Given the description of an element on the screen output the (x, y) to click on. 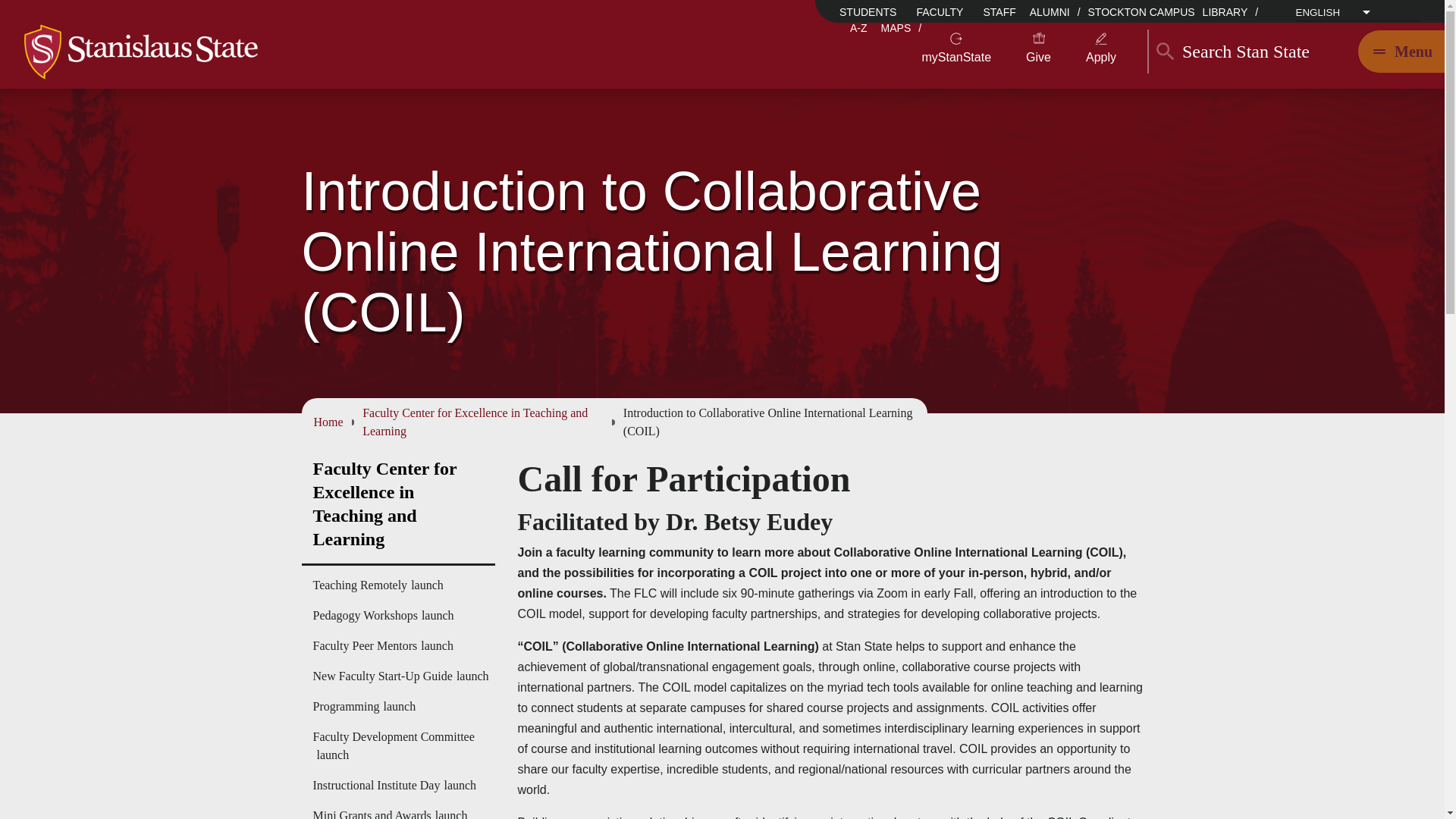
Library (1224, 11)
Resources for Faculty (939, 12)
myStanState (956, 57)
English (1356, 22)
Stockton Campus (1141, 11)
Resources for Current Students (868, 12)
Give (1038, 57)
Resources for Staff (999, 12)
Apply to Stan State (1101, 57)
Alumni (1049, 11)
Give Your Way (1038, 57)
Maps (895, 28)
log into myStanState (956, 57)
Apply (1101, 57)
